Given the description of an element on the screen output the (x, y) to click on. 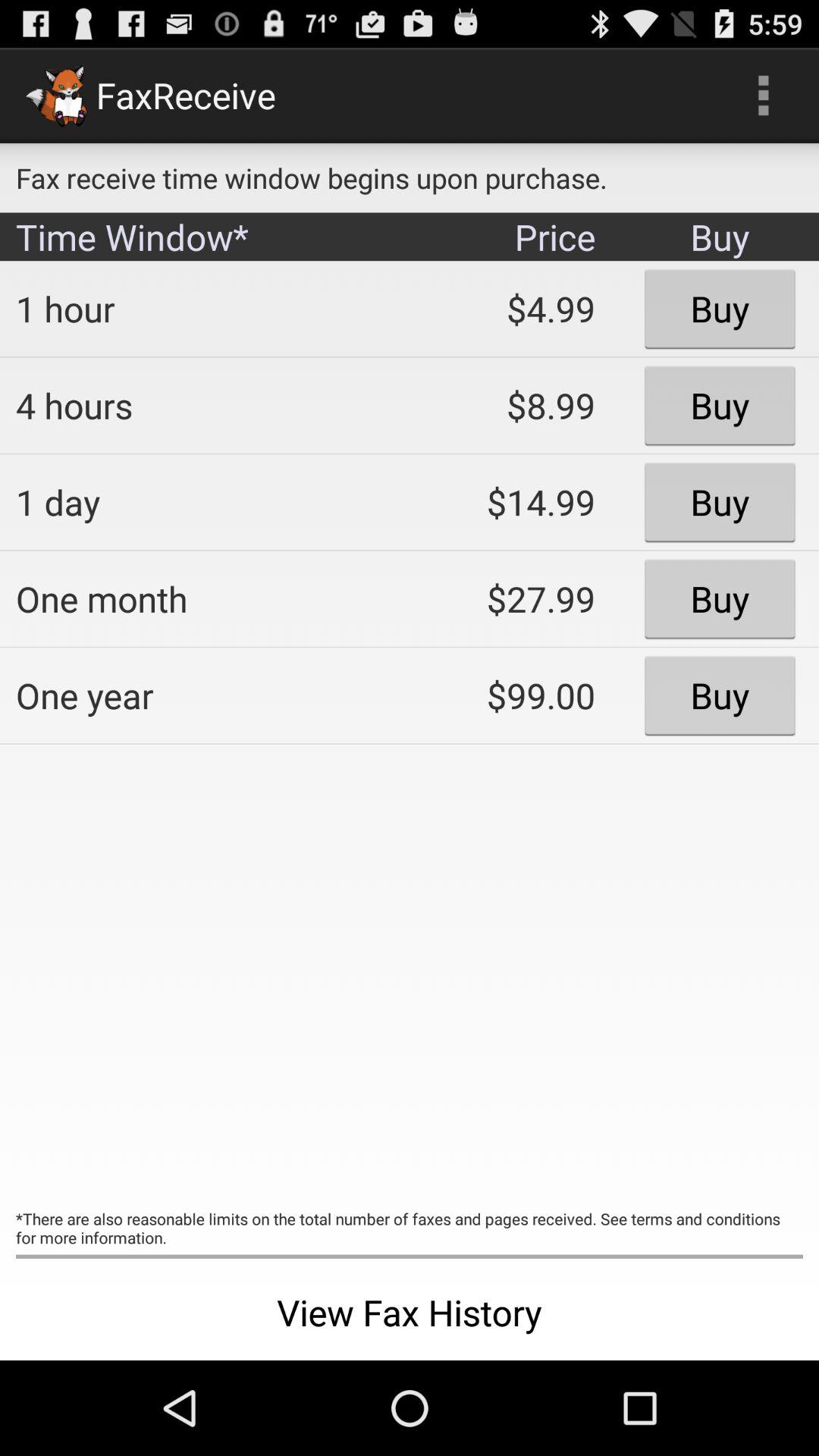
tap the item next to the fax receive time (763, 95)
